Given the description of an element on the screen output the (x, y) to click on. 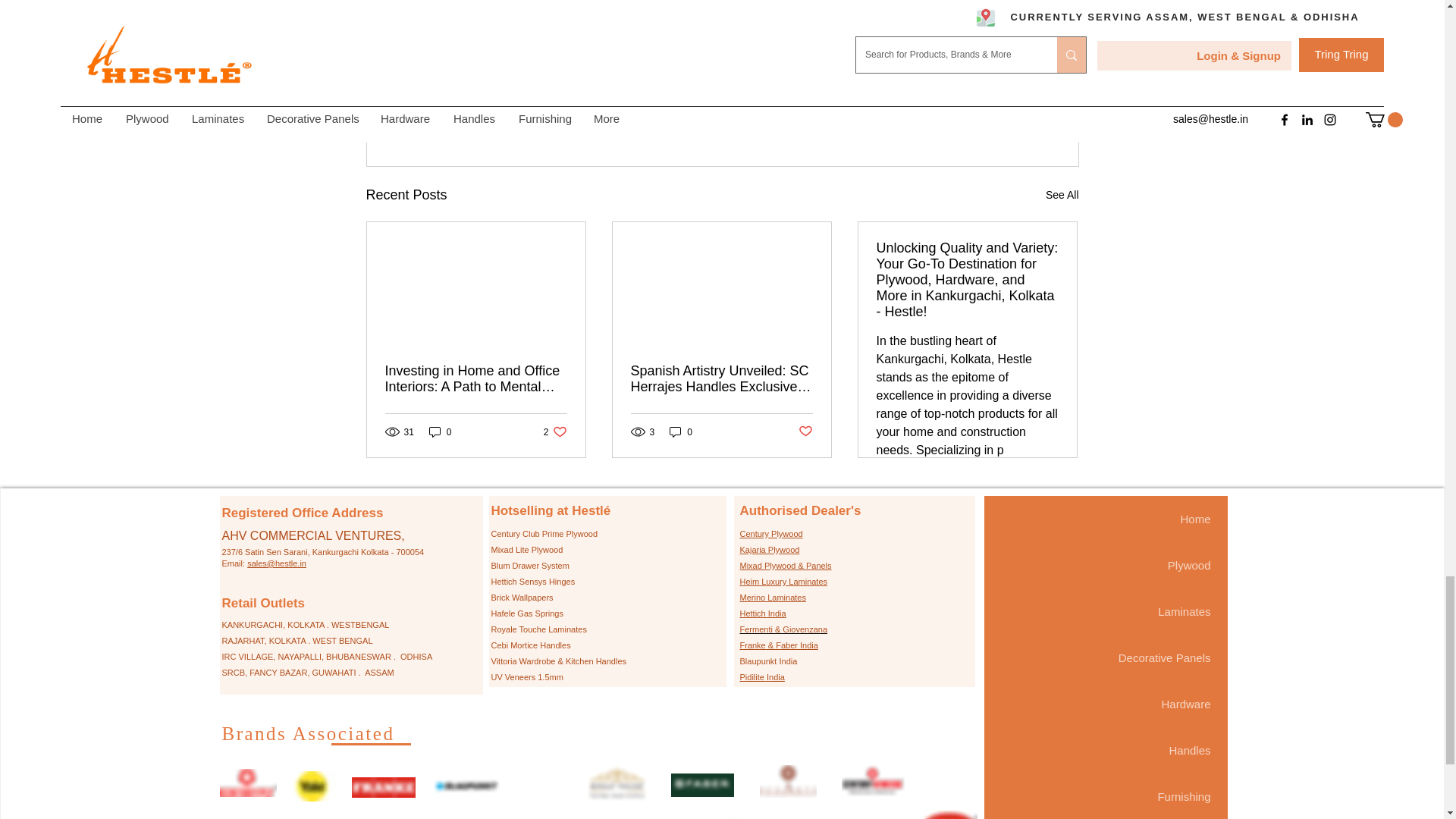
0 (681, 431)
0 (440, 431)
See All (1061, 195)
Post not marked as liked (804, 431)
